Given the description of an element on the screen output the (x, y) to click on. 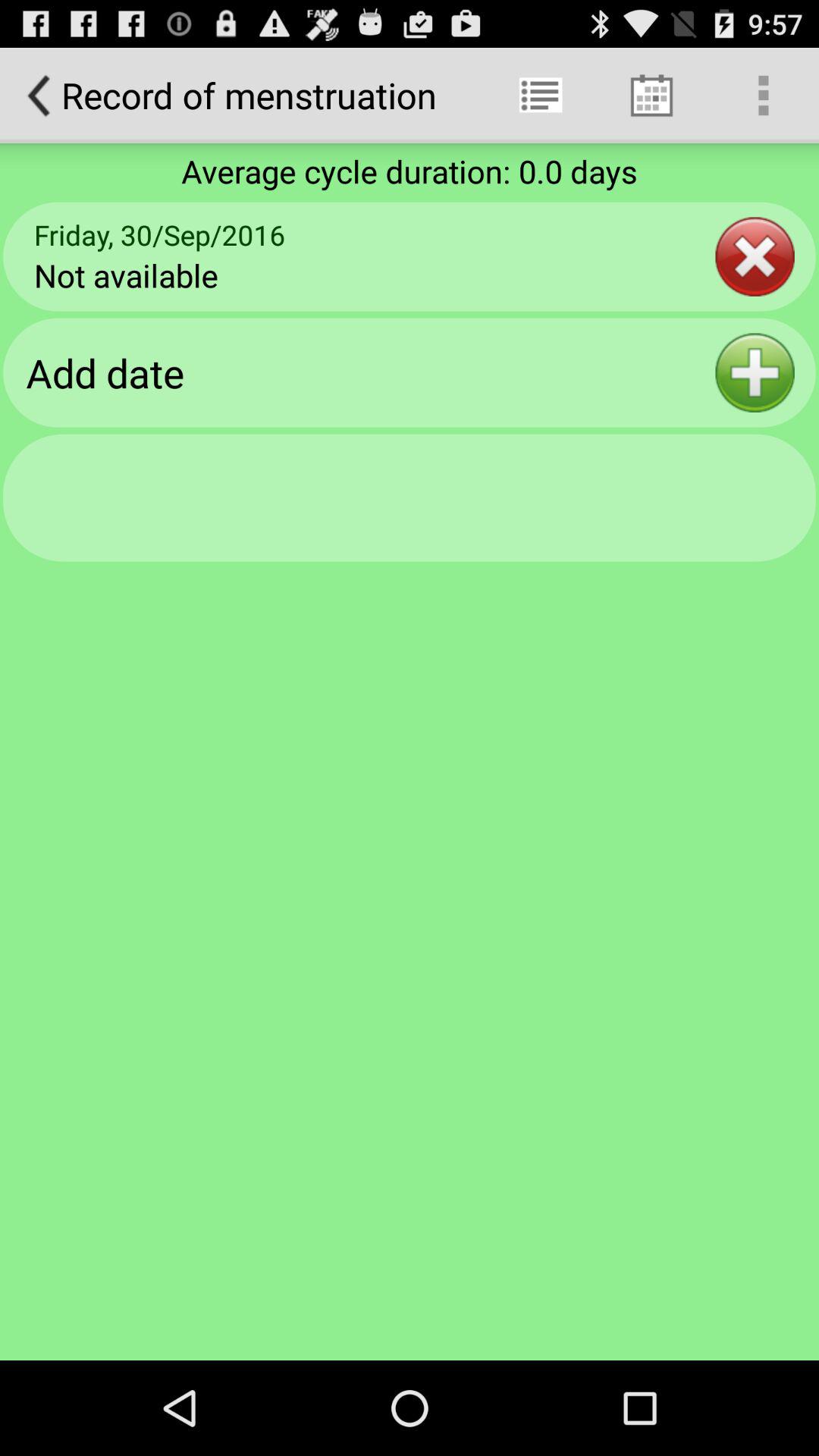
select the item above average cycle duration icon (763, 95)
